Given the description of an element on the screen output the (x, y) to click on. 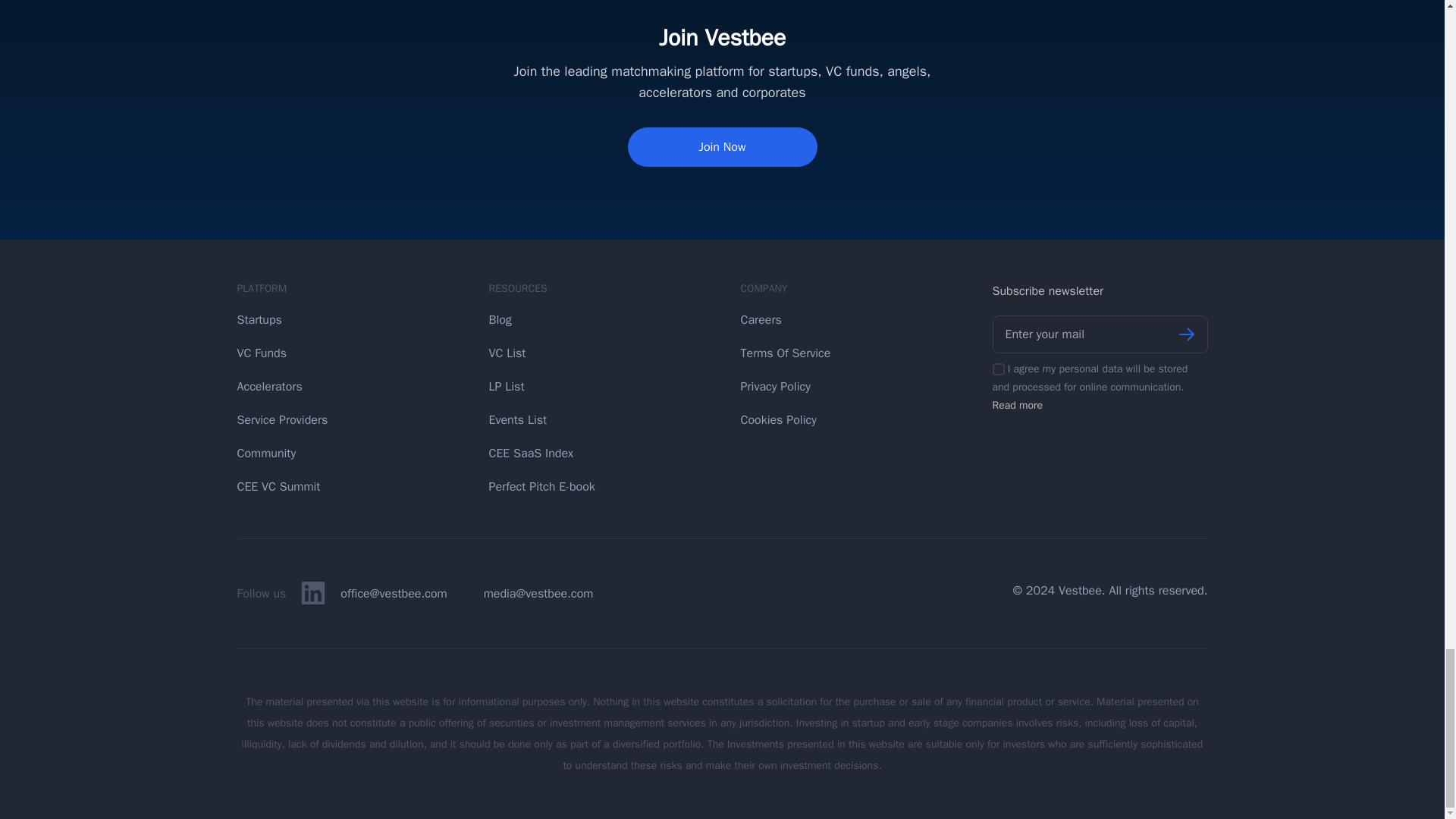
on (997, 369)
